Given the description of an element on the screen output the (x, y) to click on. 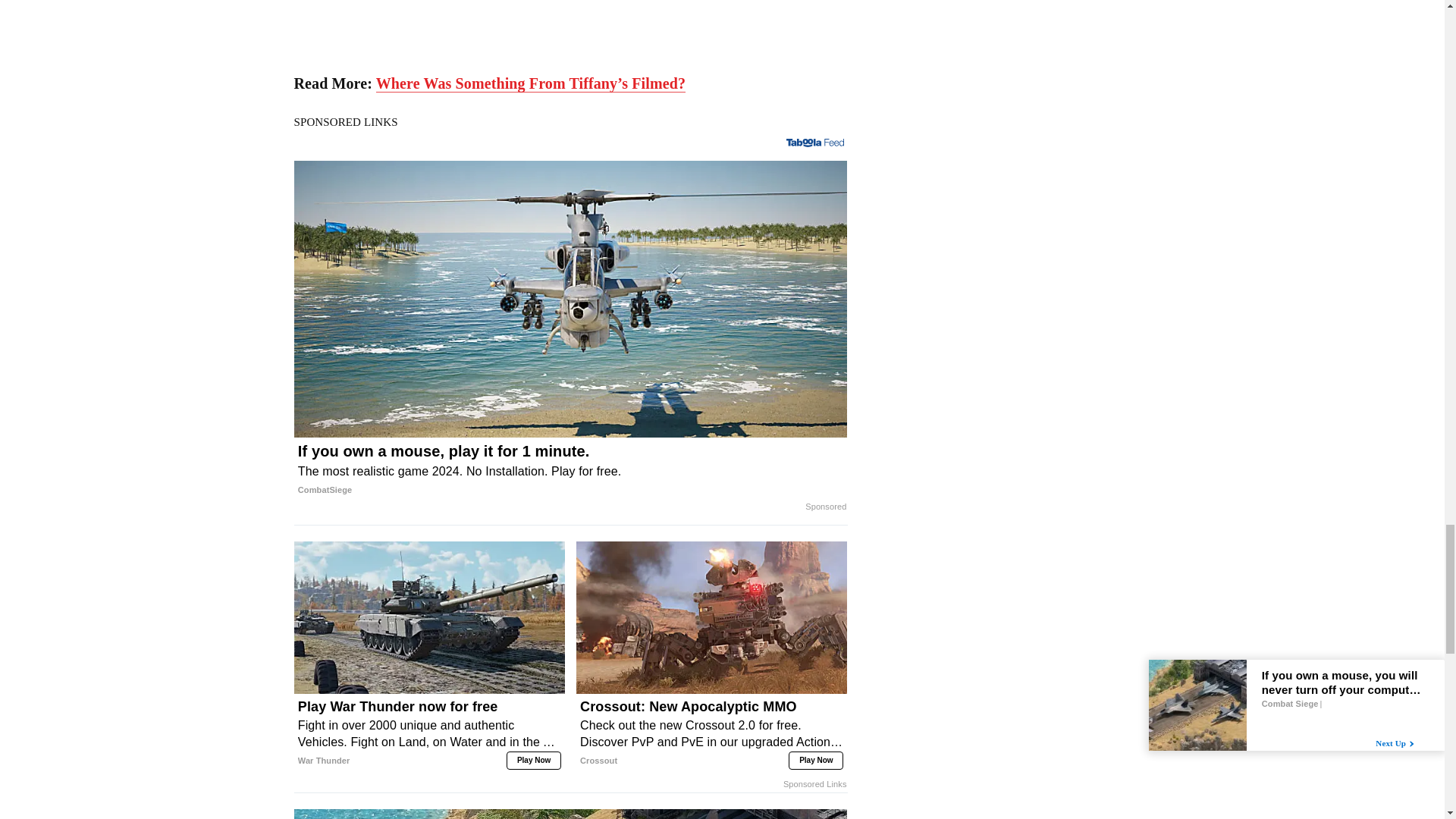
Sponsored Links (815, 784)
Play Now (533, 760)
Sponsored (825, 507)
Play Now (816, 760)
If you own a mouse, play it for 1 minute. (570, 470)
